Given the description of an element on the screen output the (x, y) to click on. 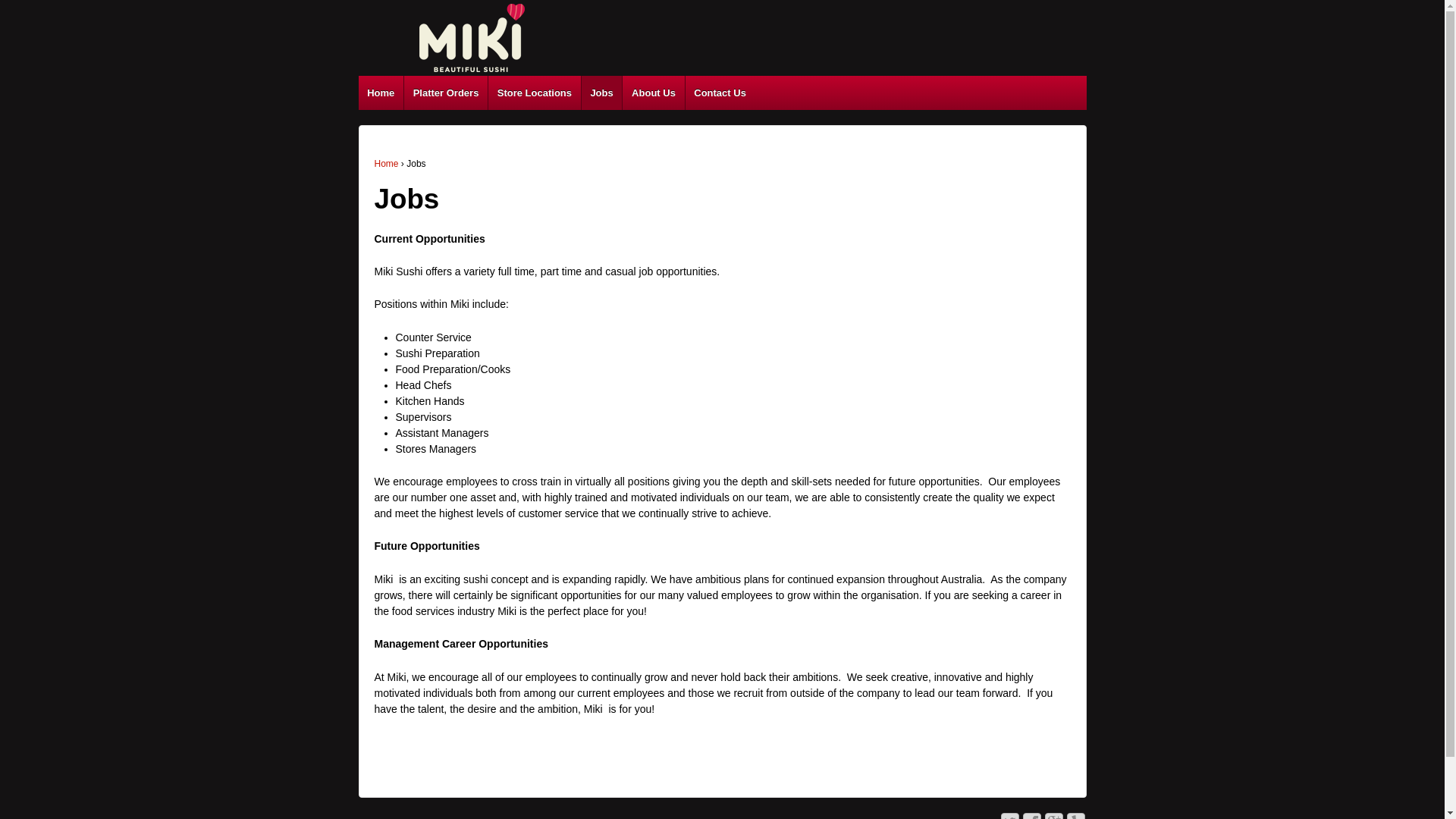
Jobs Element type: text (601, 92)
About Us Element type: text (652, 92)
Home Element type: text (380, 92)
Contact Us Element type: text (719, 92)
Platter Orders Element type: text (445, 92)
Store Locations Element type: text (533, 92)
Home Element type: text (386, 163)
